Given the description of an element on the screen output the (x, y) to click on. 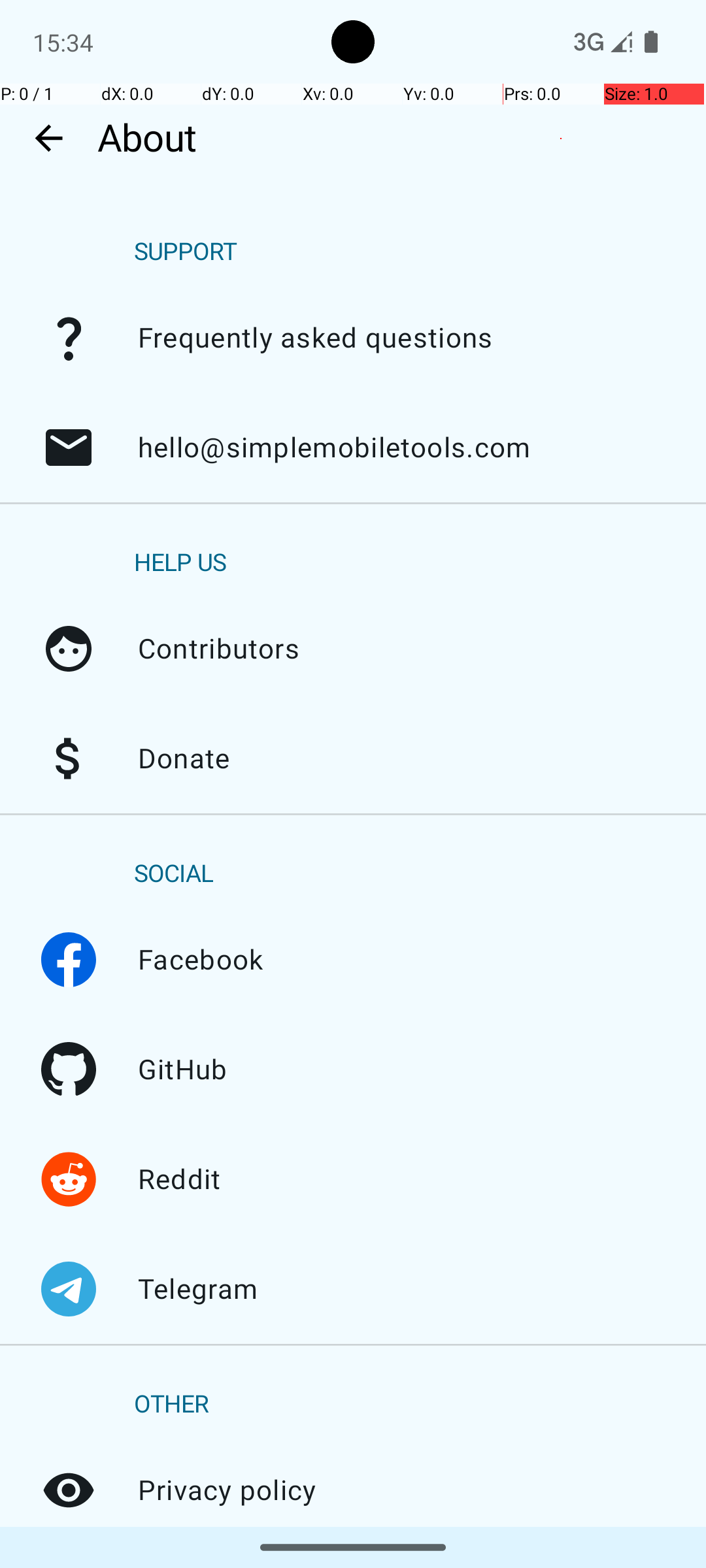
SUPPORT Element type: android.widget.TextView (185, 251)
HELP US Element type: android.widget.TextView (180, 562)
SOCIAL Element type: android.widget.TextView (173, 873)
OTHER Element type: android.widget.TextView (171, 1404)
Frequently asked questions Element type: android.view.View (68, 337)
hello@simplemobiletools.com Element type: android.view.View (68, 447)
Donate Element type: android.view.View (68, 758)
GitHub Element type: android.view.View (68, 1069)
Reddit Element type: android.view.View (68, 1178)
Telegram Element type: android.view.View (68, 1288)
Privacy policy Element type: android.view.View (68, 1489)
